Given the description of an element on the screen output the (x, y) to click on. 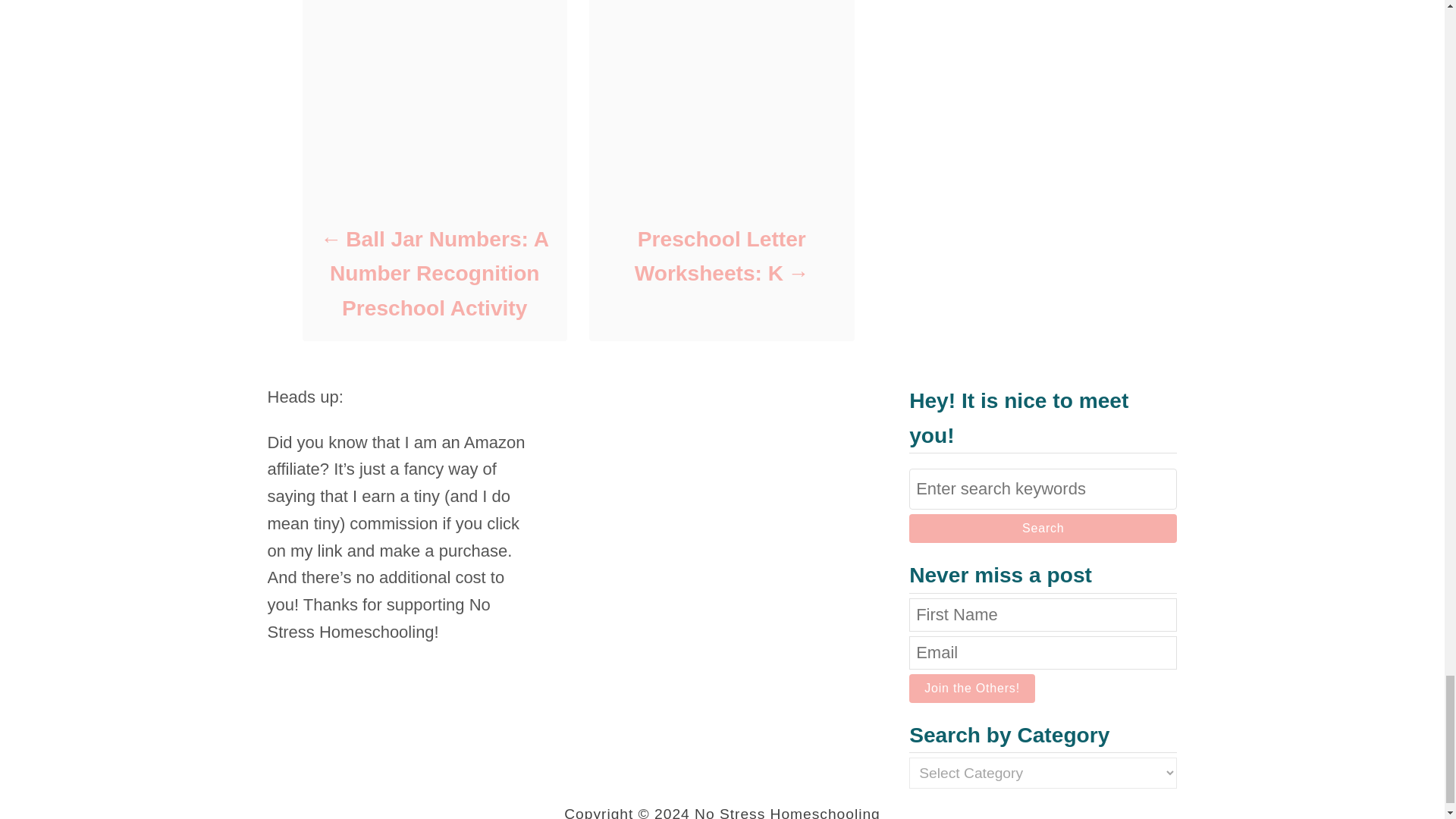
Search for: (1042, 488)
Search (1042, 528)
Join the Others! (971, 688)
Search (1042, 528)
